Given the description of an element on the screen output the (x, y) to click on. 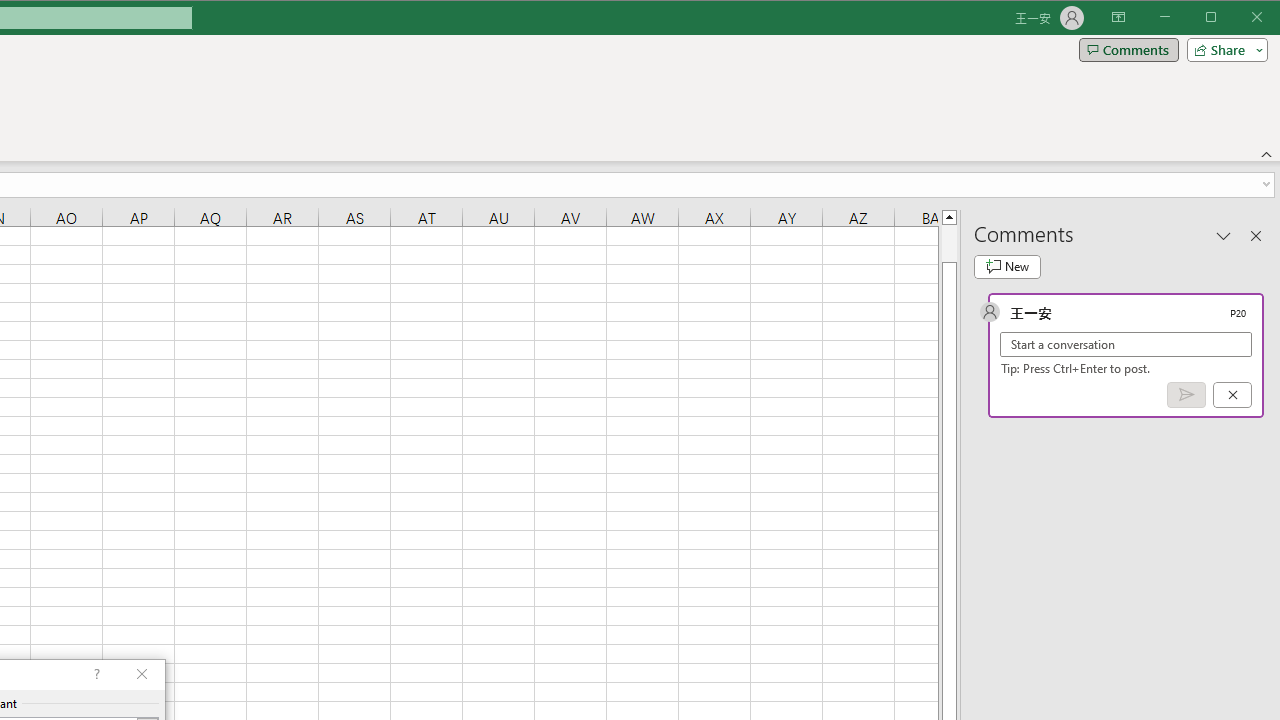
New comment (1007, 266)
Maximize (1239, 18)
Cancel (1232, 395)
Page up (948, 243)
